Given the description of an element on the screen output the (x, y) to click on. 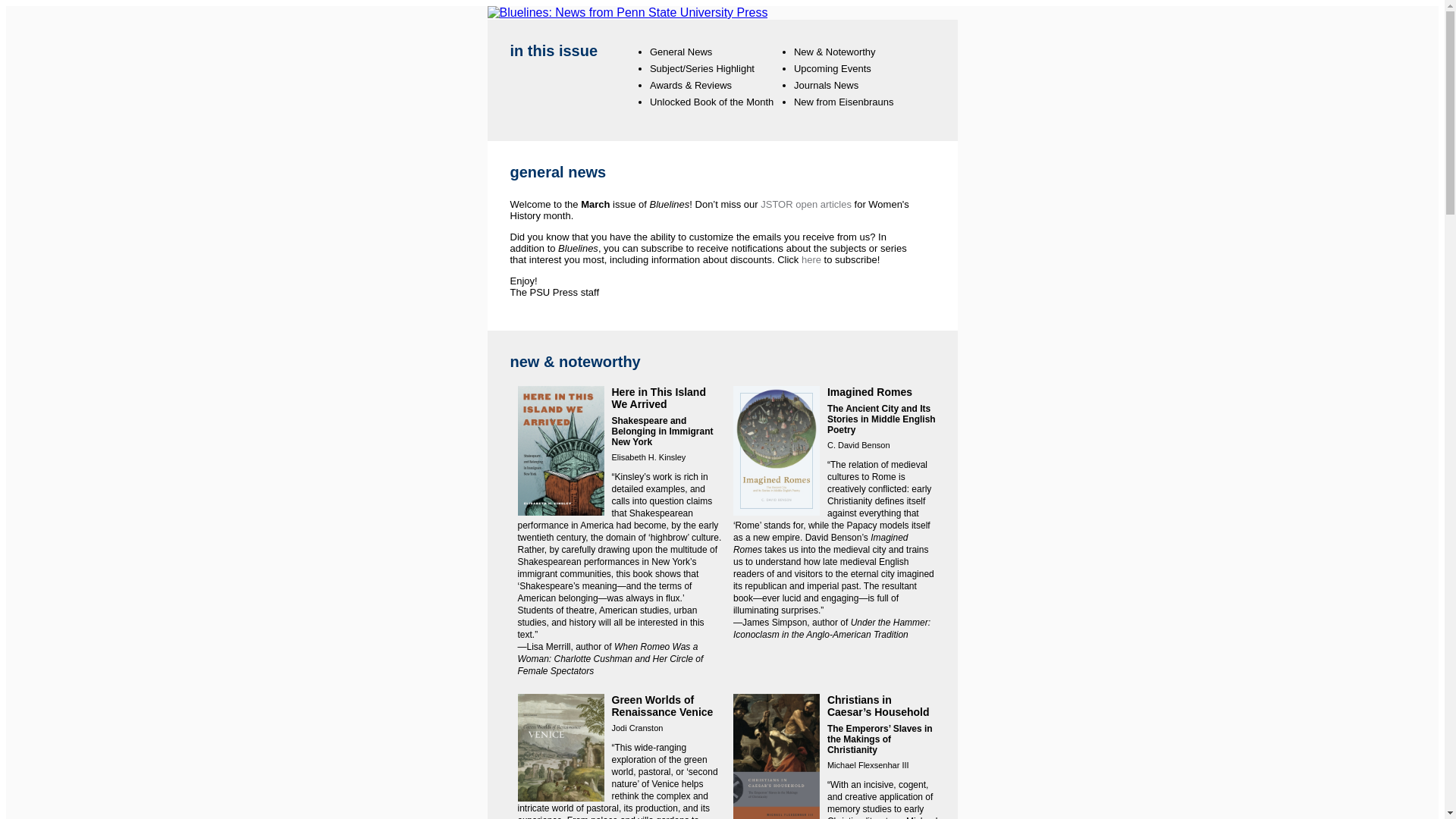
The PSU Press staff (553, 292)
New from Eisenbrauns (843, 101)
JSTOR open articles (805, 204)
General News (680, 51)
Journals News (826, 84)
Upcoming Events (831, 68)
here (811, 259)
Unlocked Book of the Month (711, 101)
